Given the description of an element on the screen output the (x, y) to click on. 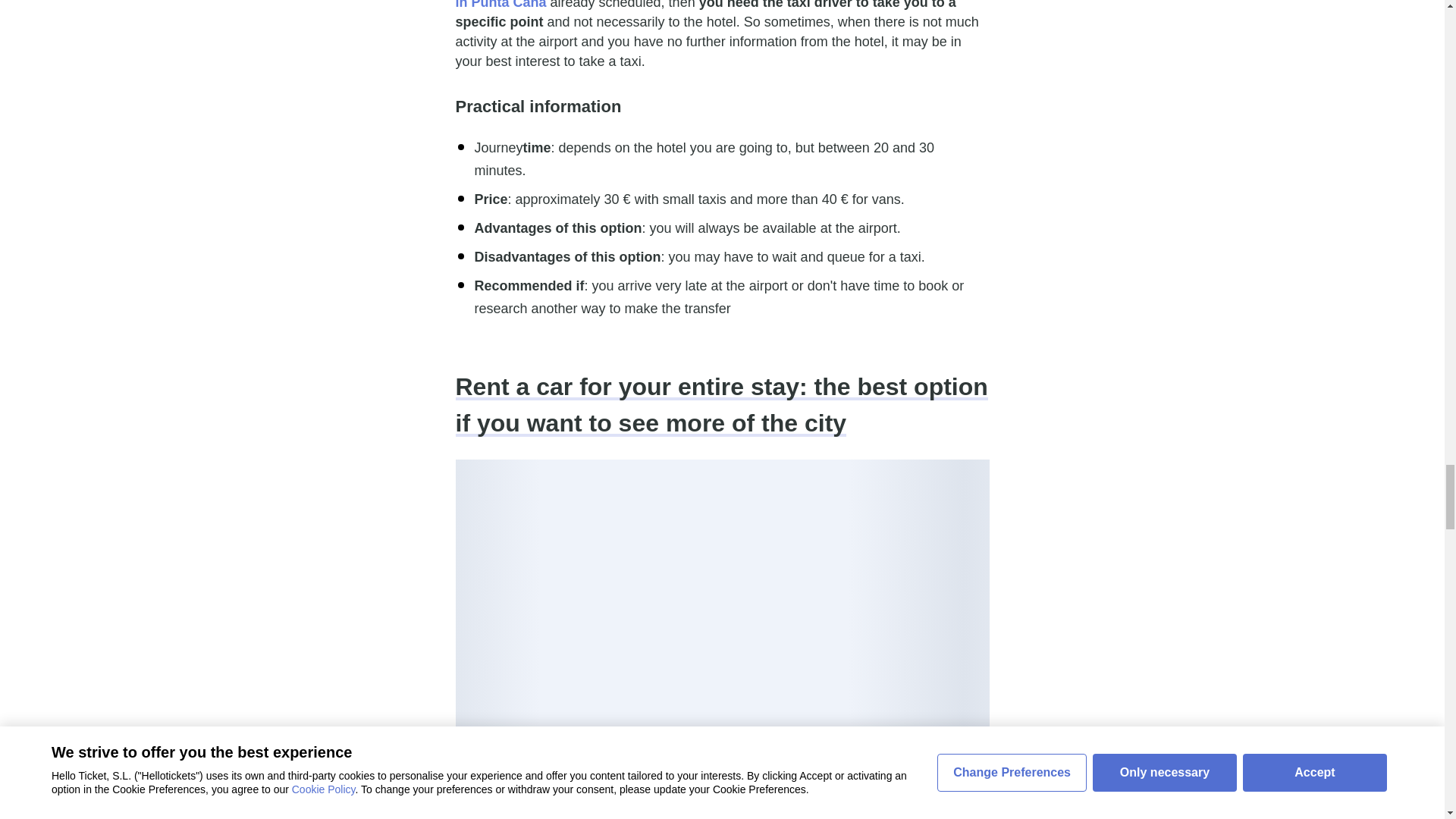
best catamaran tours in Punta Cana (713, 4)
